Given the description of an element on the screen output the (x, y) to click on. 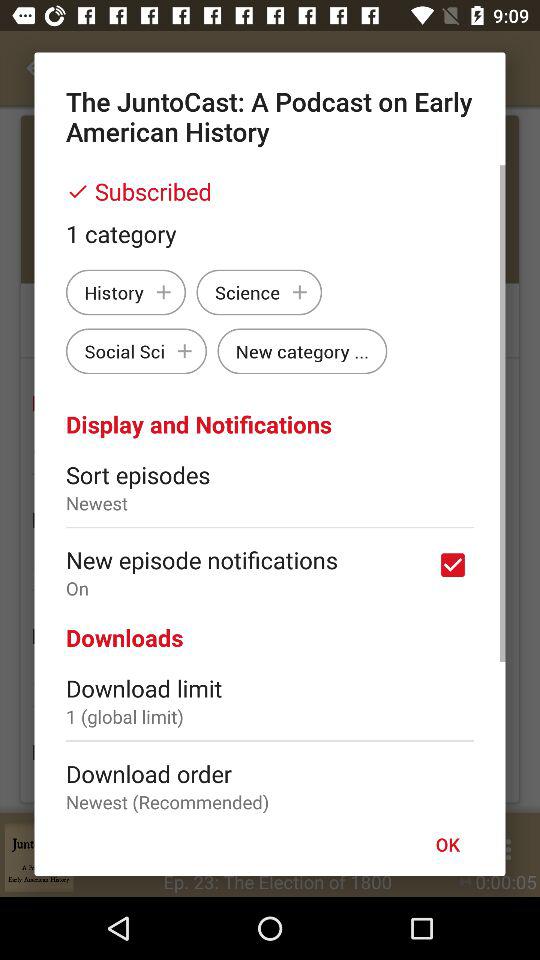
launch the icon to the right of newest (recommended) (447, 844)
